Given the description of an element on the screen output the (x, y) to click on. 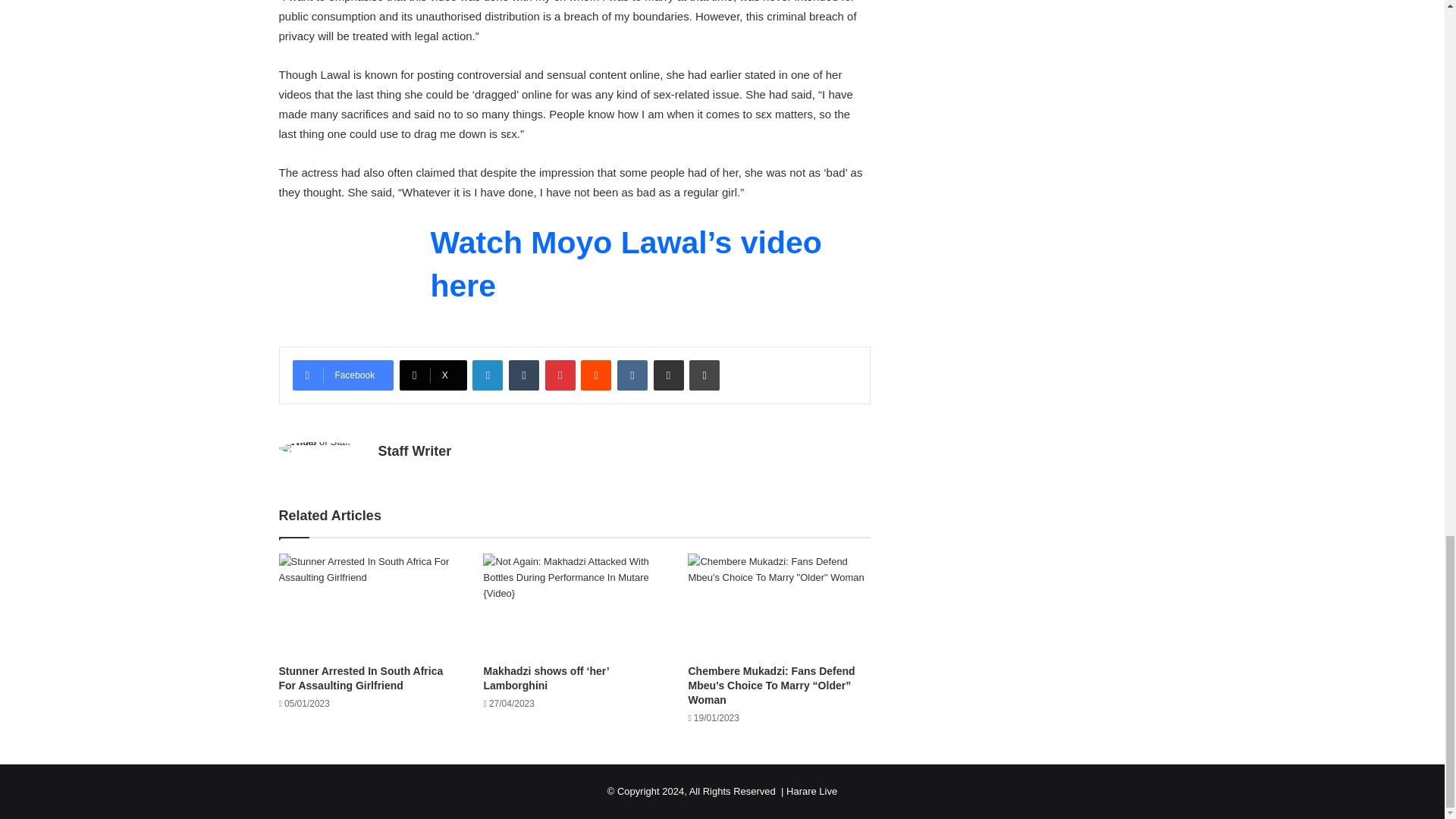
Tumblr (523, 375)
Pinterest (559, 375)
Print (703, 375)
Tumblr (523, 375)
VKontakte (632, 375)
Share via Email (668, 375)
X (432, 375)
X (432, 375)
Pinterest (559, 375)
Reddit (595, 375)
Facebook (343, 375)
LinkedIn (486, 375)
LinkedIn (486, 375)
Facebook (343, 375)
